Given the description of an element on the screen output the (x, y) to click on. 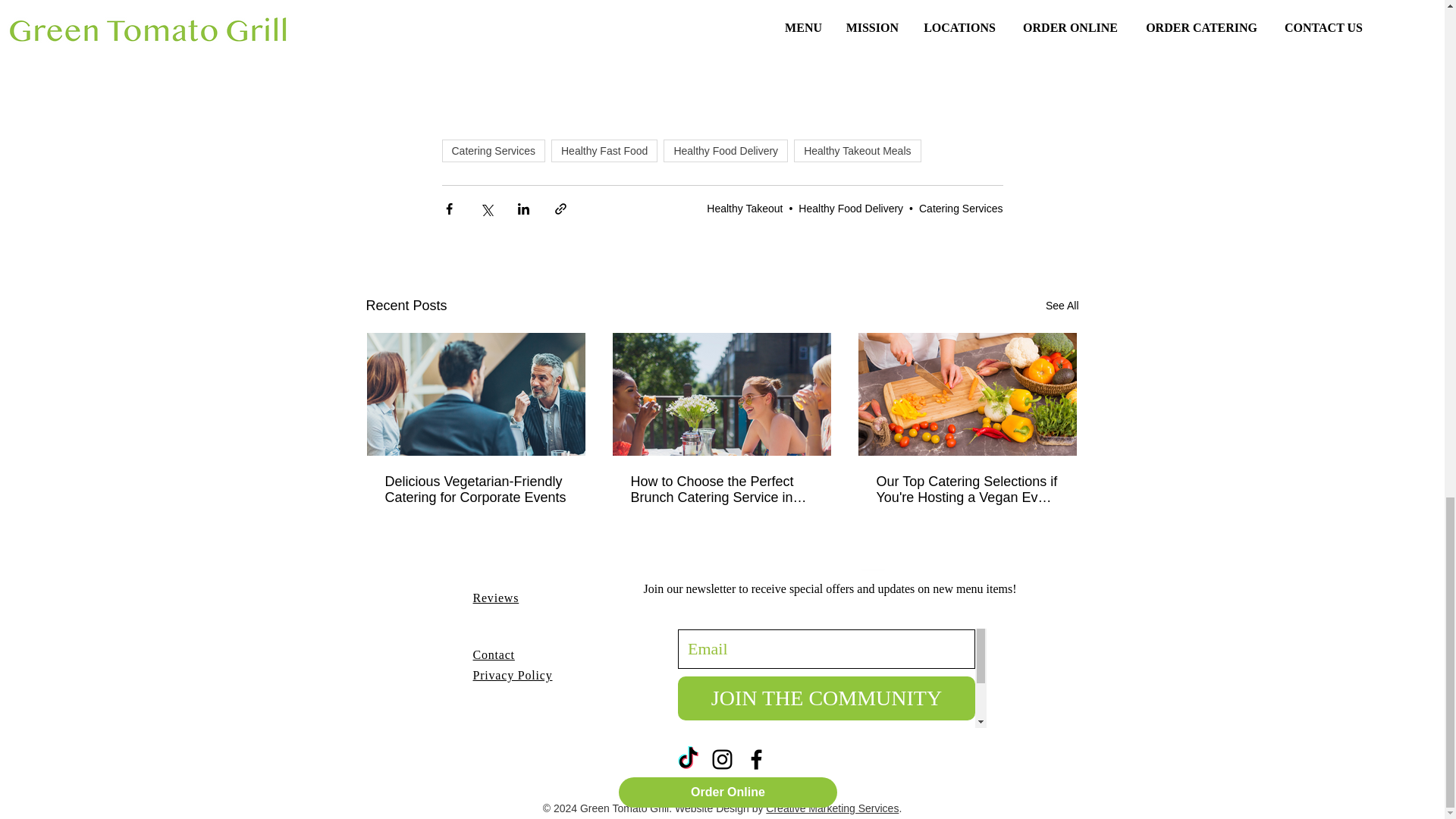
View our menu (473, 16)
Embedded Content (832, 652)
Catering Services (492, 150)
Healthy Food Delivery (725, 150)
Healthy Fast Food (604, 150)
